Given the description of an element on the screen output the (x, y) to click on. 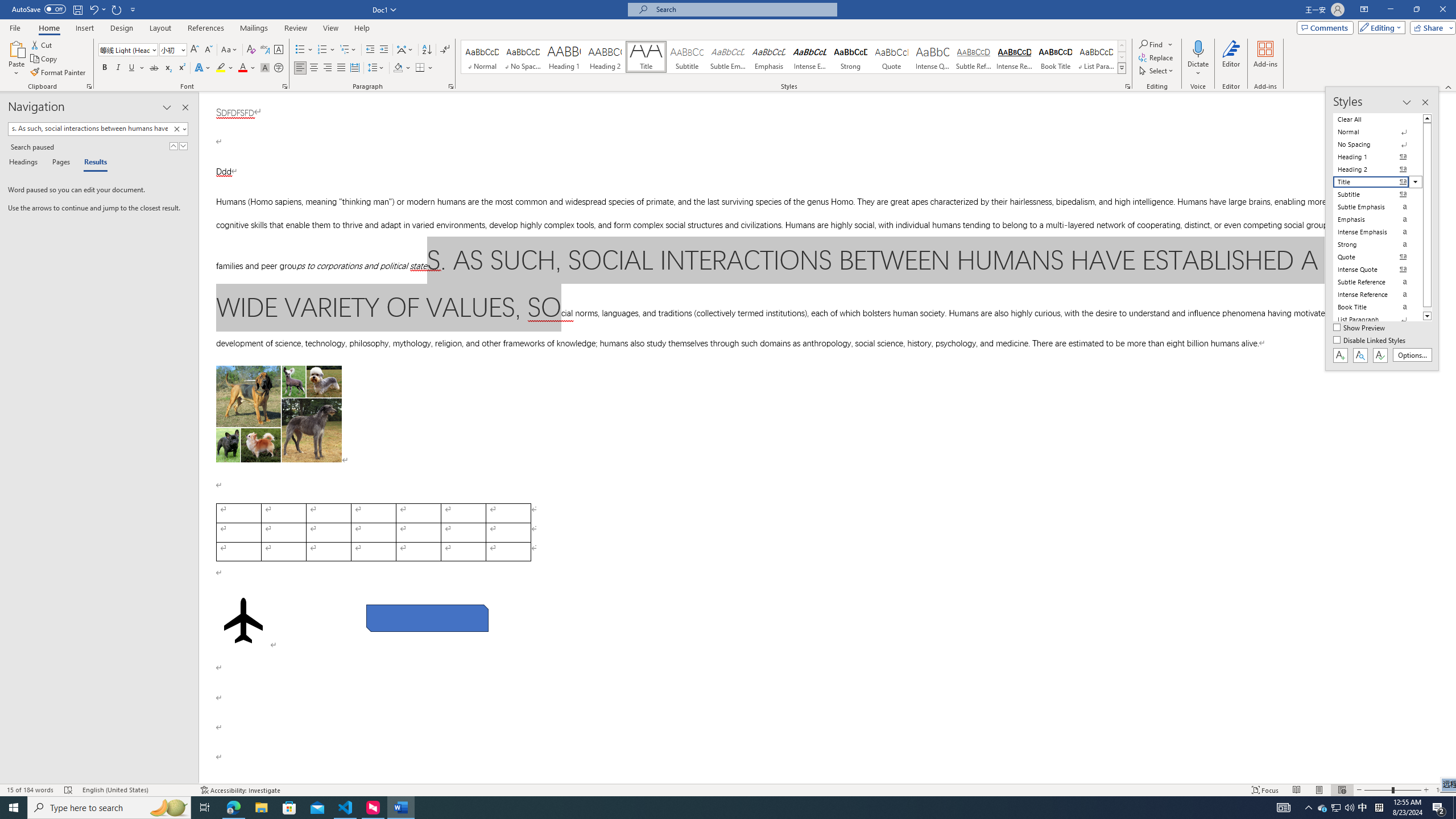
Clear (178, 128)
Clear (176, 128)
Rectangle: Diagonal Corners Snipped 2 (427, 618)
Repeat Style (117, 9)
No Spacing (1377, 144)
Spelling and Grammar Check Errors (68, 790)
